Given the description of an element on the screen output the (x, y) to click on. 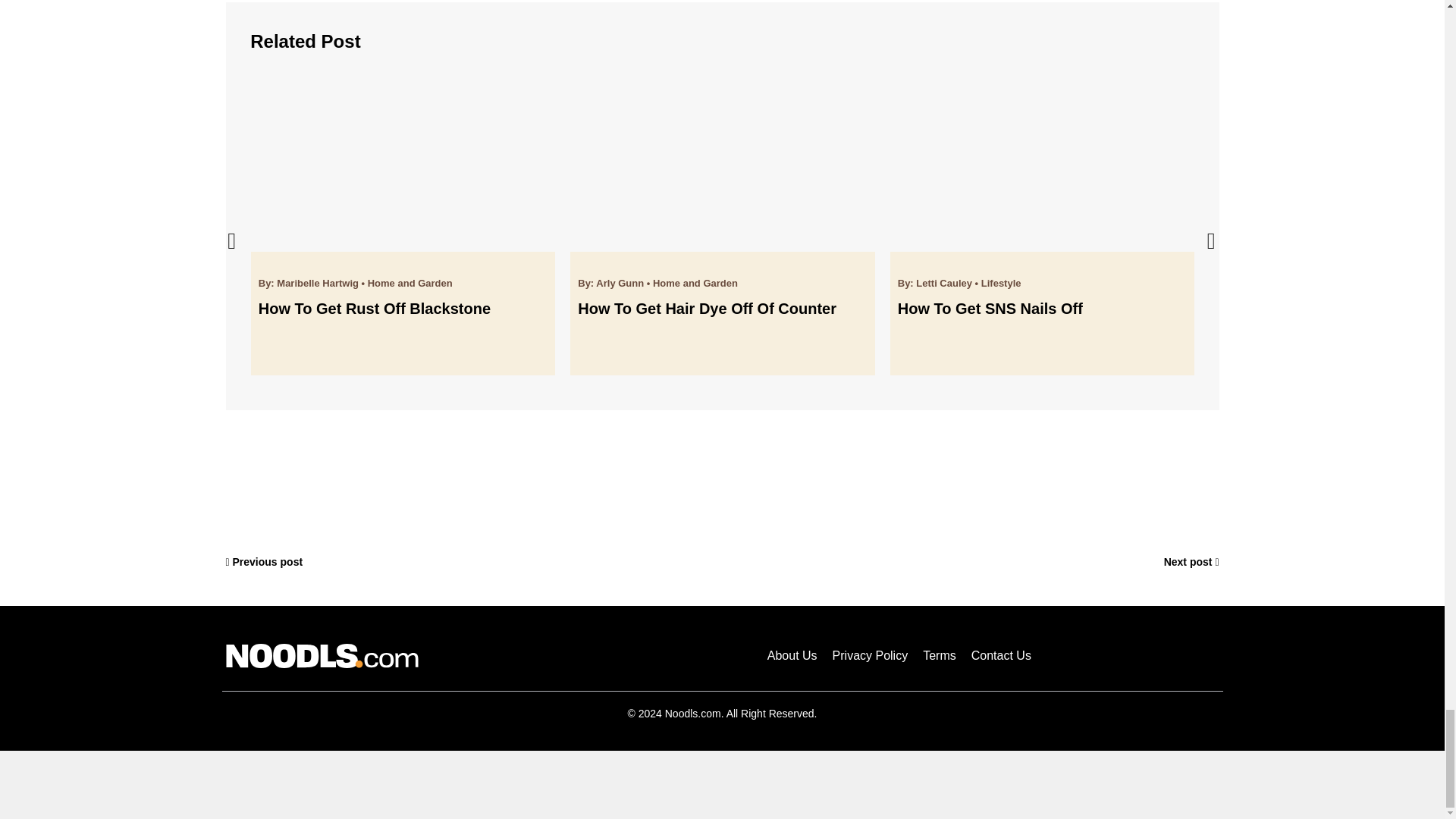
Noodls (322, 655)
